Given the description of an element on the screen output the (x, y) to click on. 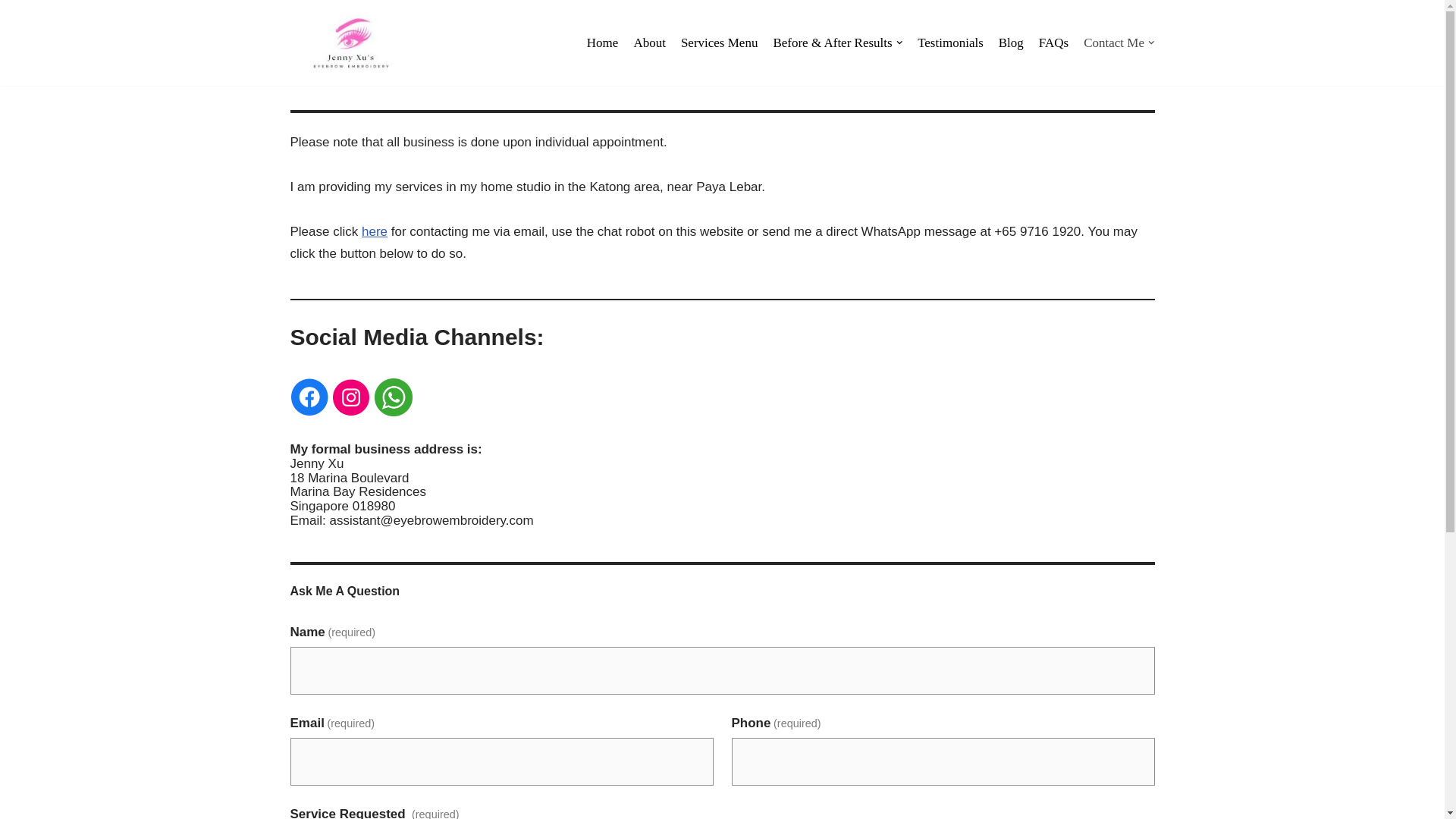
EyebrowEmbroidery.com (349, 42)
Skip to content (11, 31)
About (649, 42)
Testimonials (950, 42)
Blog (1010, 42)
Services Menu (719, 42)
FAQs (1053, 42)
Contact Me (1118, 42)
Home (602, 42)
